Given the description of an element on the screen output the (x, y) to click on. 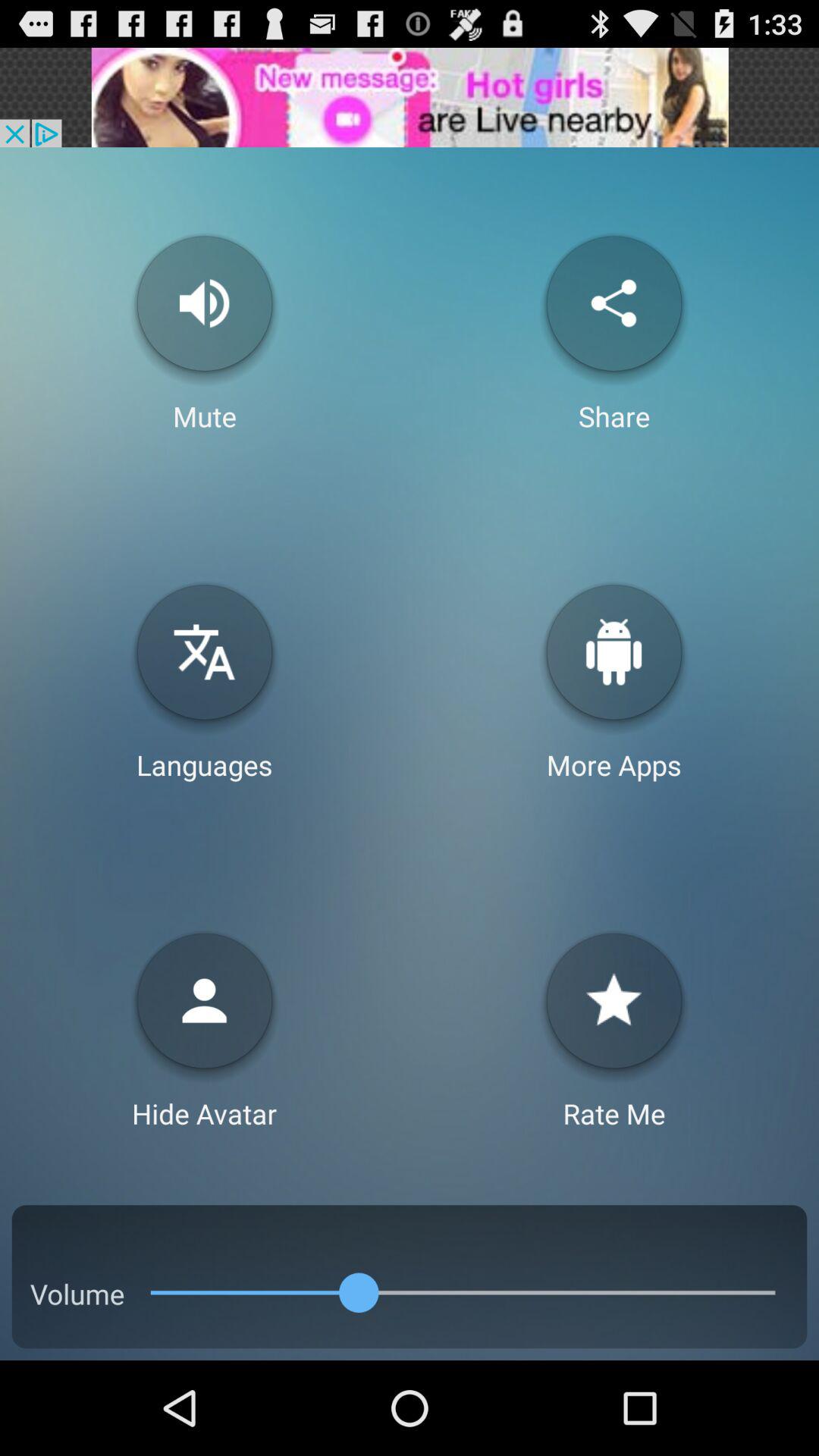
advertisement on the page (409, 97)
